Given the description of an element on the screen output the (x, y) to click on. 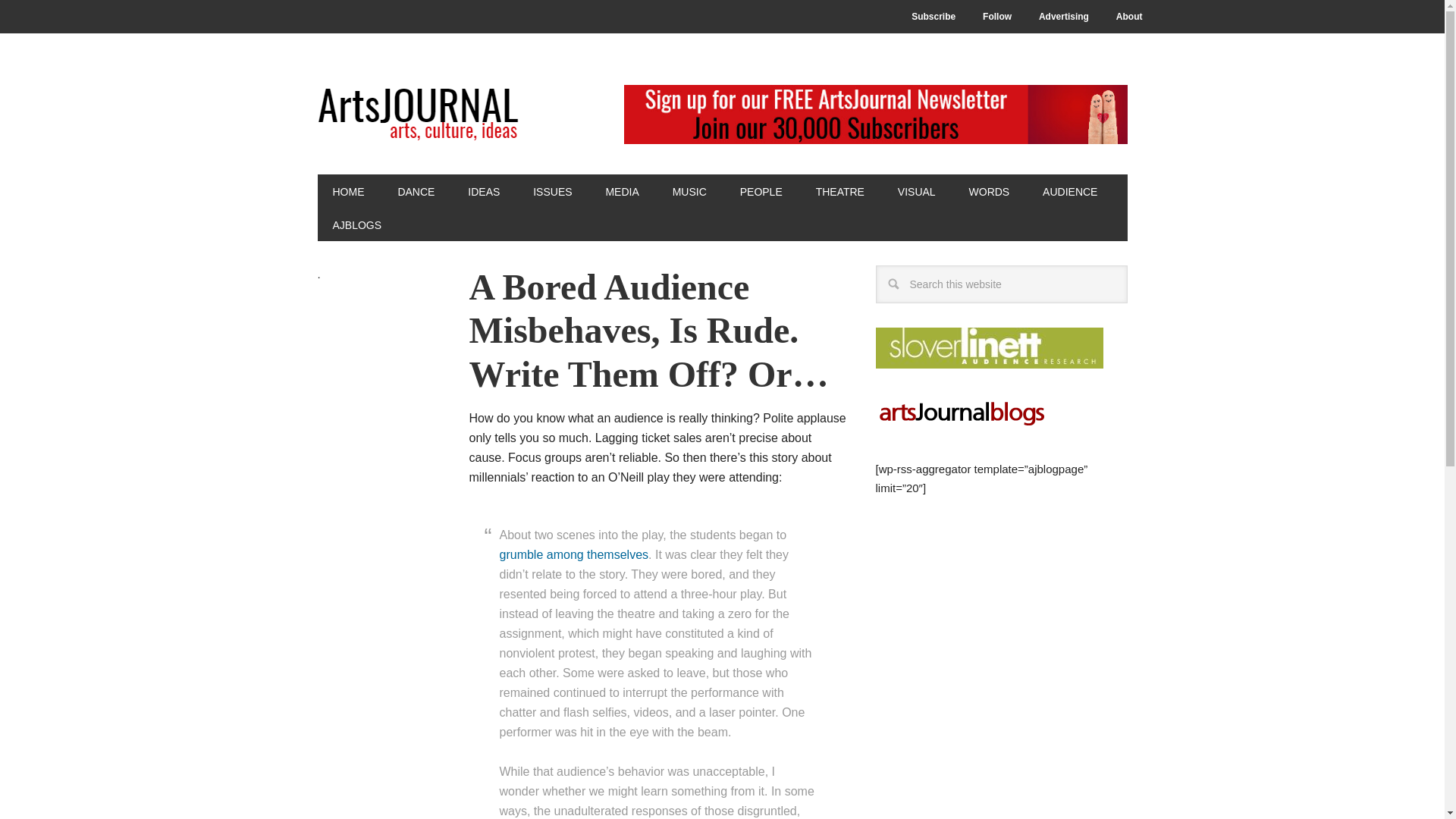
PEOPLE (761, 191)
About (1128, 16)
THEATRE (839, 191)
HOME (347, 191)
Follow (997, 16)
grumble among themselves (573, 554)
Subscribe (933, 16)
MUSIC (690, 191)
VISUAL (916, 191)
